Given the description of an element on the screen output the (x, y) to click on. 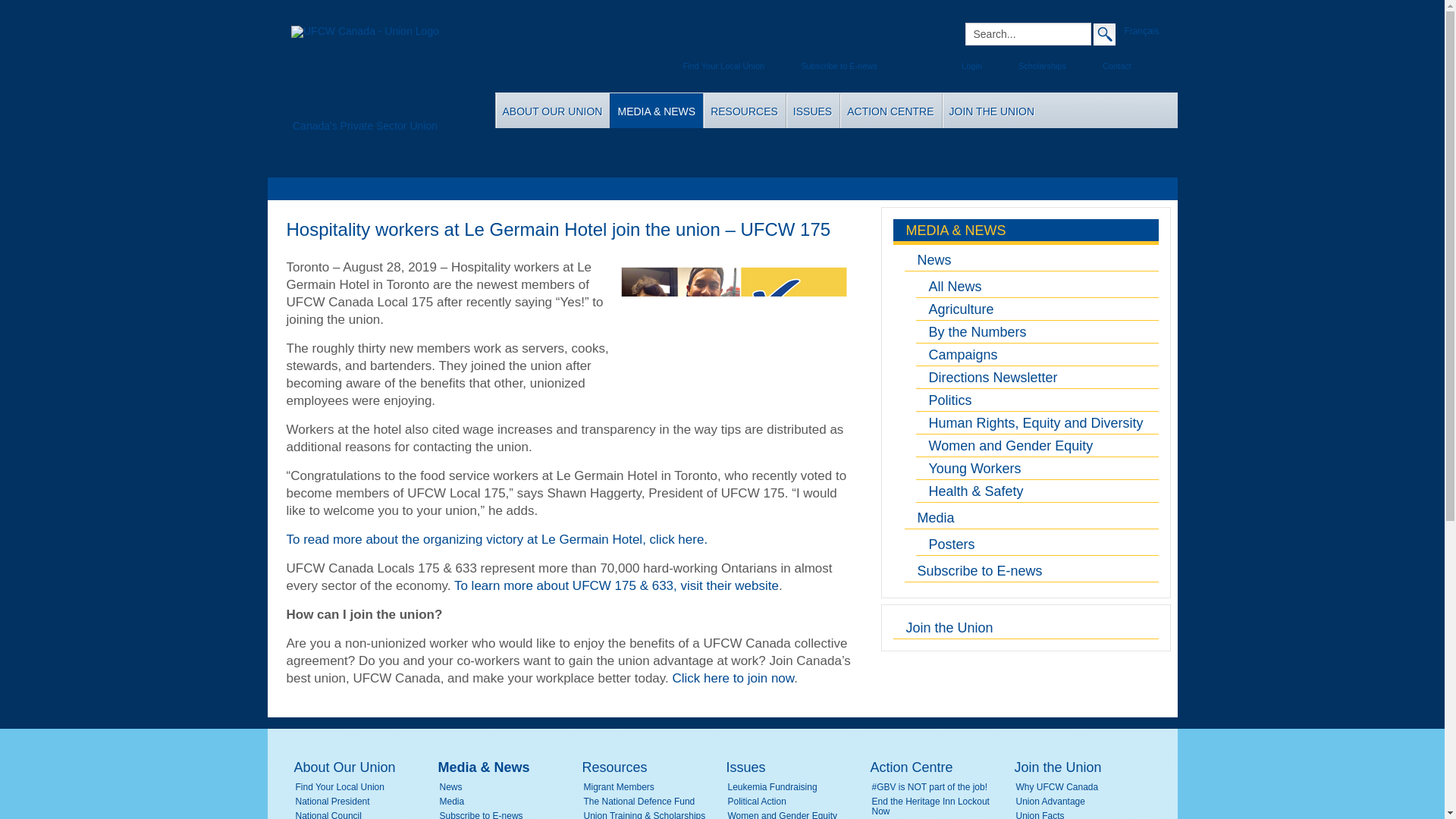
Join the Union (1025, 627)
Contact (1106, 65)
JOIN THE UNION (992, 110)
Search (1104, 33)
Subscribe to E-news (1030, 570)
Young Workers (1036, 468)
All News (1036, 286)
ABOUT OUR UNION (553, 110)
Media (1030, 517)
Women and Gender Equity (1036, 445)
Find Your Local Union (363, 787)
By the Numbers (1036, 332)
Search... (1026, 33)
UFCW Canada-Union Logo (364, 72)
